Given the description of an element on the screen output the (x, y) to click on. 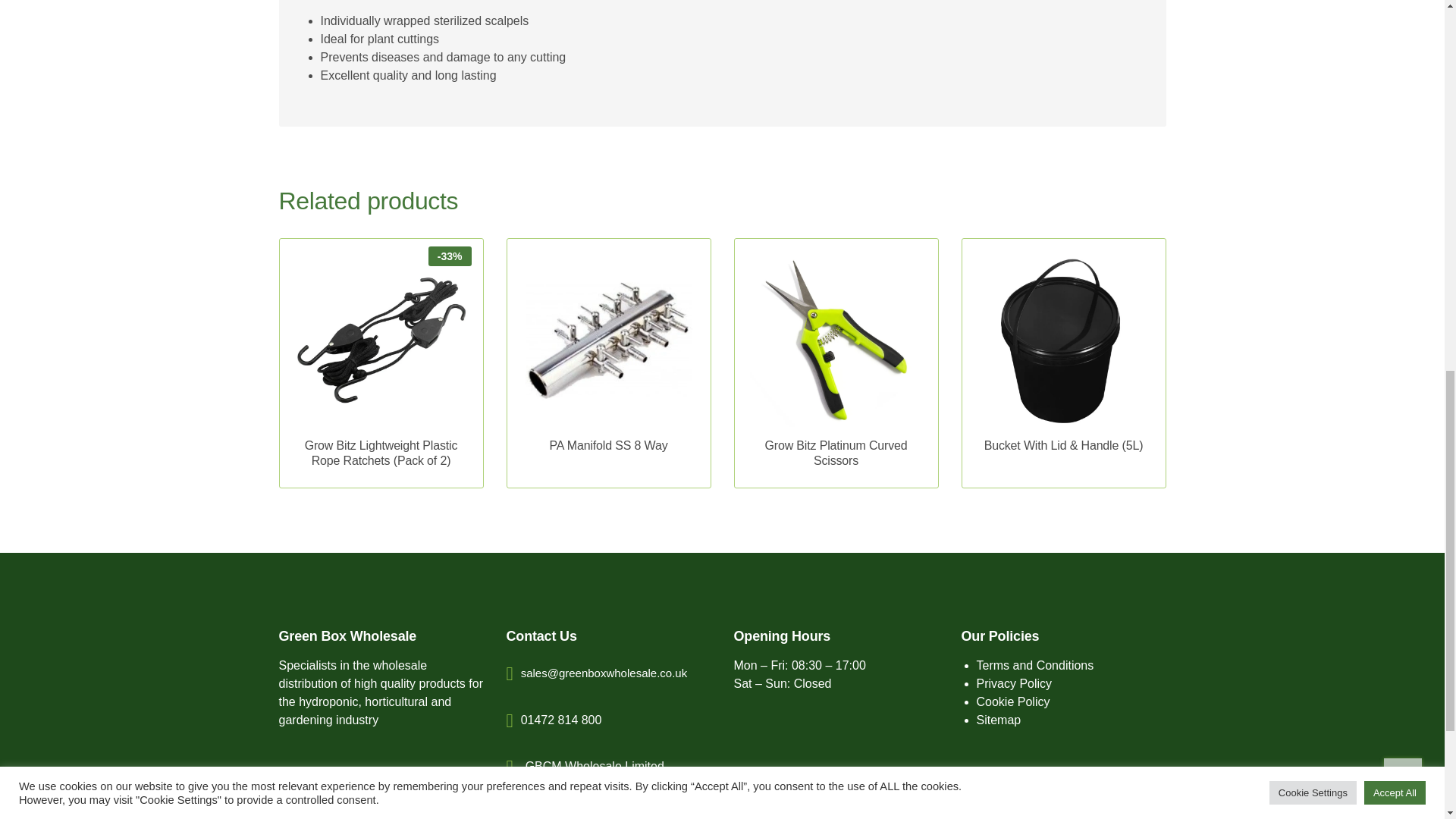
Instagram (333, 811)
Privacy policy (1014, 683)
Cookie policy (1012, 701)
Facebook (297, 811)
Terms and conditions (1035, 665)
Sitemap (999, 719)
